Given the description of an element on the screen output the (x, y) to click on. 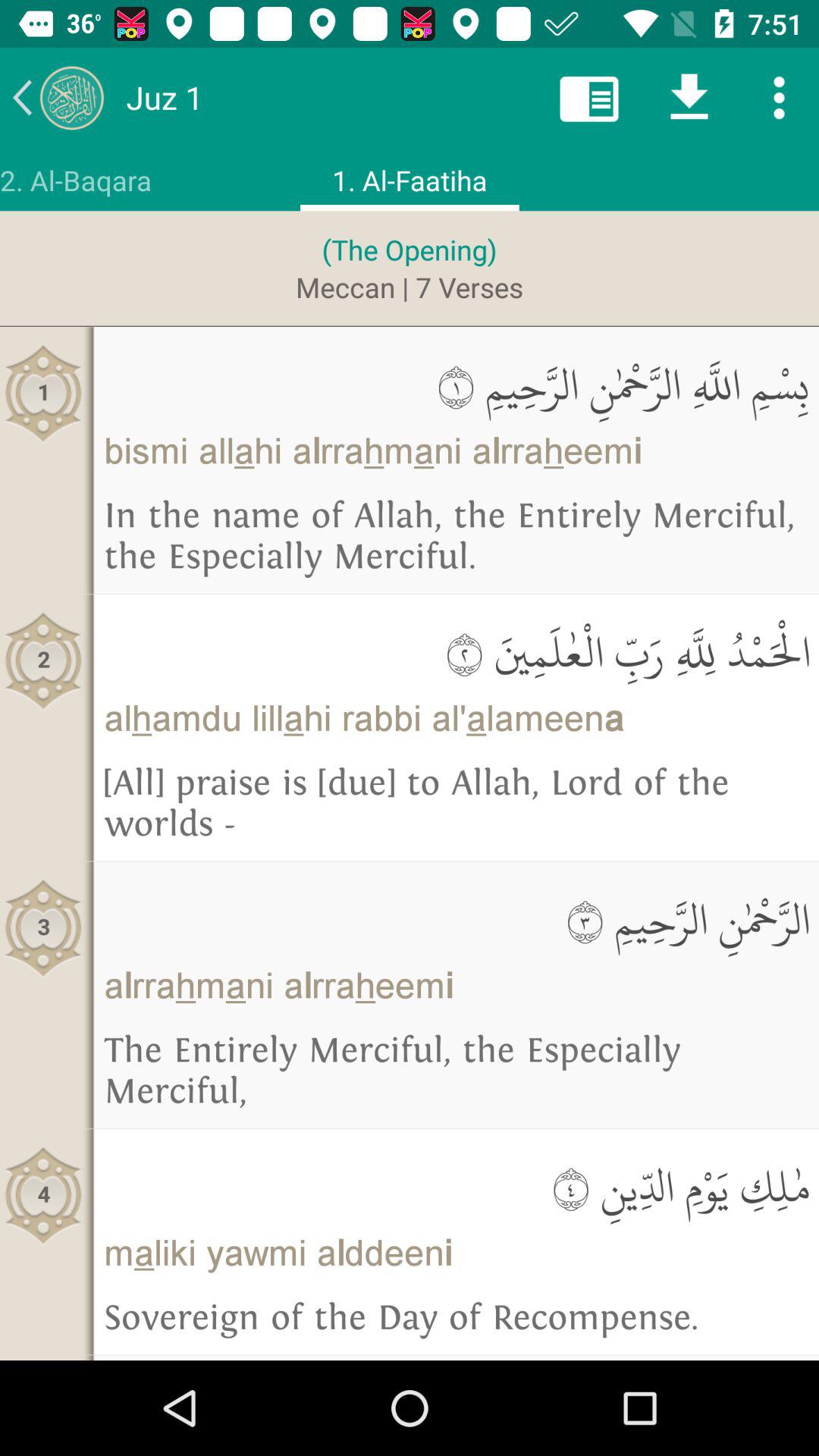
launch in the name icon (456, 536)
